Given the description of an element on the screen output the (x, y) to click on. 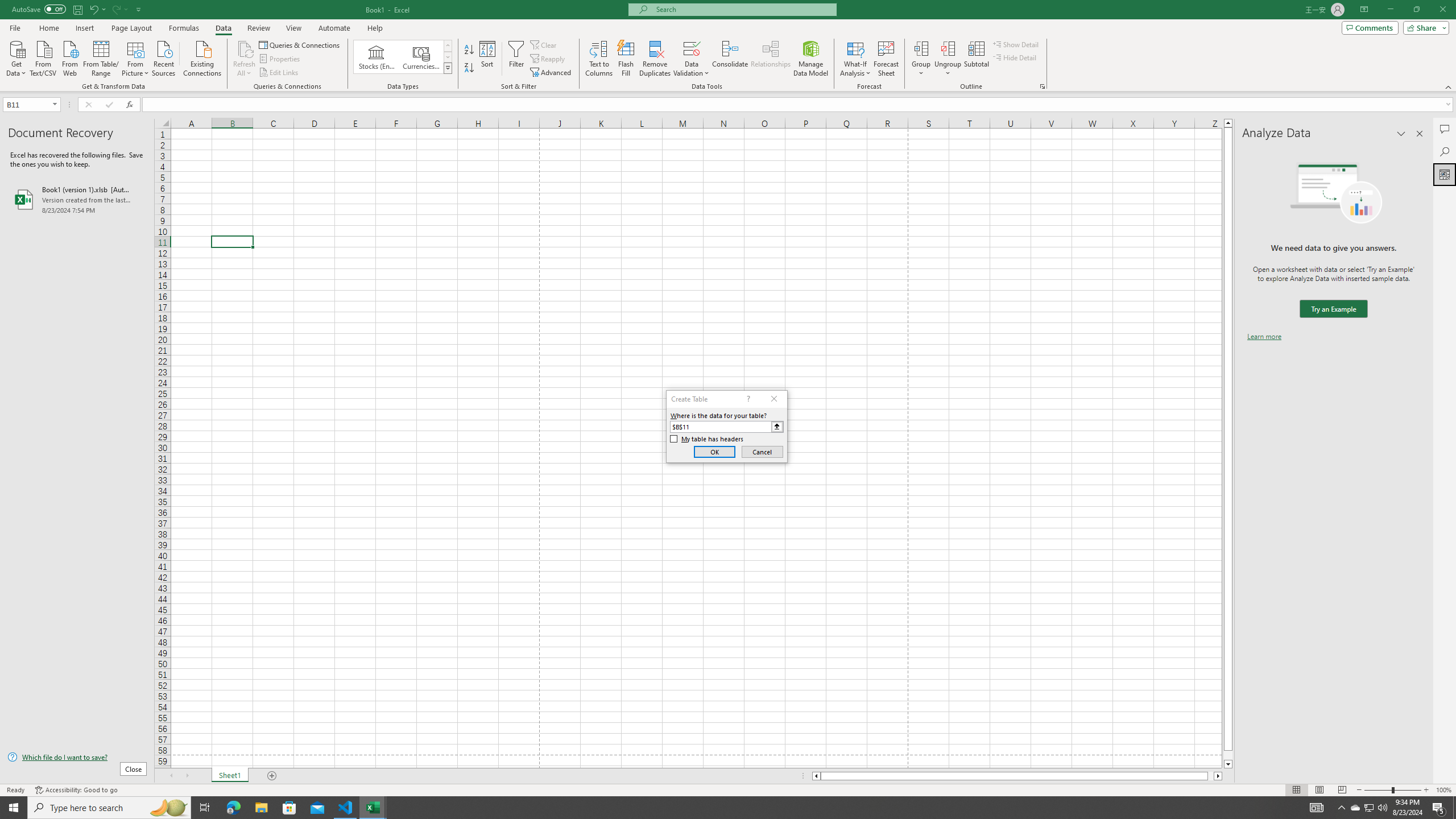
Microsoft search (742, 9)
Queries & Connections (300, 44)
Group and Outline Settings (1042, 85)
Recent Sources (163, 57)
Hide Detail (1014, 56)
Data (223, 28)
Forecast Sheet (885, 58)
Open (54, 104)
Restore Down (1416, 9)
Class: MsoCommandBar (728, 45)
File Tab (15, 27)
Get Data (16, 57)
Consolidate... (729, 58)
